Given the description of an element on the screen output the (x, y) to click on. 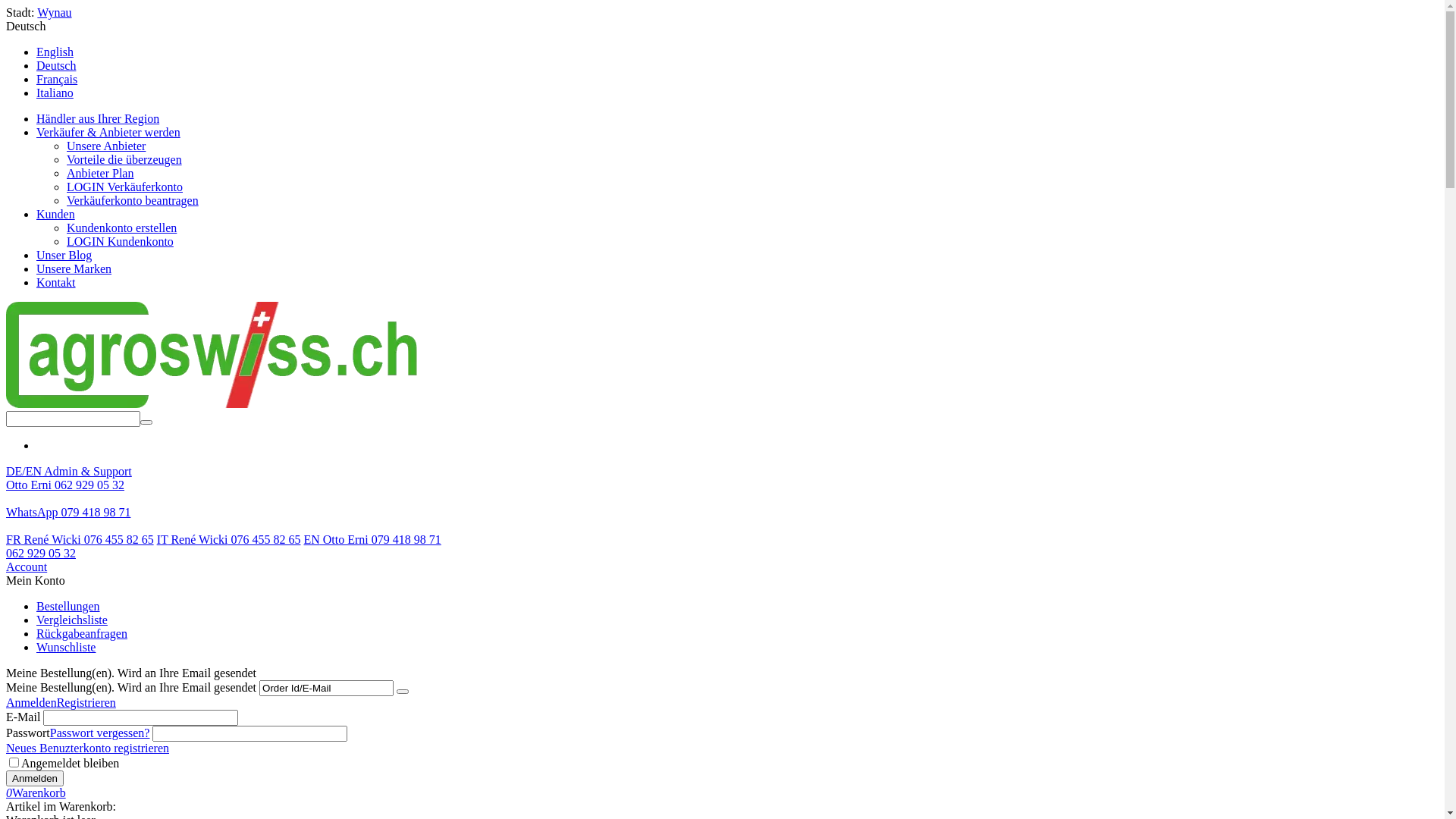
Anmelden Element type: text (31, 702)
Kundenkonto erstellen Element type: text (121, 227)
0Warenkorb Element type: text (35, 792)
Unsere Anbieter Element type: text (105, 145)
Unser Blog Element type: text (63, 254)
Wunschliste Element type: text (65, 646)
Suche Element type: hover (146, 422)
Kontakt Element type: text (55, 282)
Bestellungen Element type: text (68, 605)
Produkte suchen Element type: hover (73, 418)
Registrieren Element type: text (86, 702)
LOGIN Kundenkonto Element type: text (119, 241)
English Element type: text (54, 51)
EN Otto Erni 079 418 98 71 Element type: text (371, 539)
WhatsApp 079 418 98 71 Element type: text (68, 511)
Italiano Element type: text (54, 92)
Anmelden Element type: text (34, 778)
Account Element type: text (26, 566)
Deutsch Element type: text (25, 25)
062 929 05 32 Element type: text (40, 552)
DE/EN Admin & Support
Otto Erni 062 929 05 32 Element type: text (68, 477)
Neues Benuzterkonto registrieren Element type: text (87, 747)
Anbieter Plan Element type: text (99, 172)
Wynau Element type: text (54, 12)
Passwort vergessen? Element type: text (100, 732)
Deutsch Element type: text (55, 65)
Kunden Element type: text (55, 213)
Weiter Element type: hover (402, 691)
Vergleichsliste Element type: text (71, 619)
Unsere Marken Element type: text (73, 268)
